Given the description of an element on the screen output the (x, y) to click on. 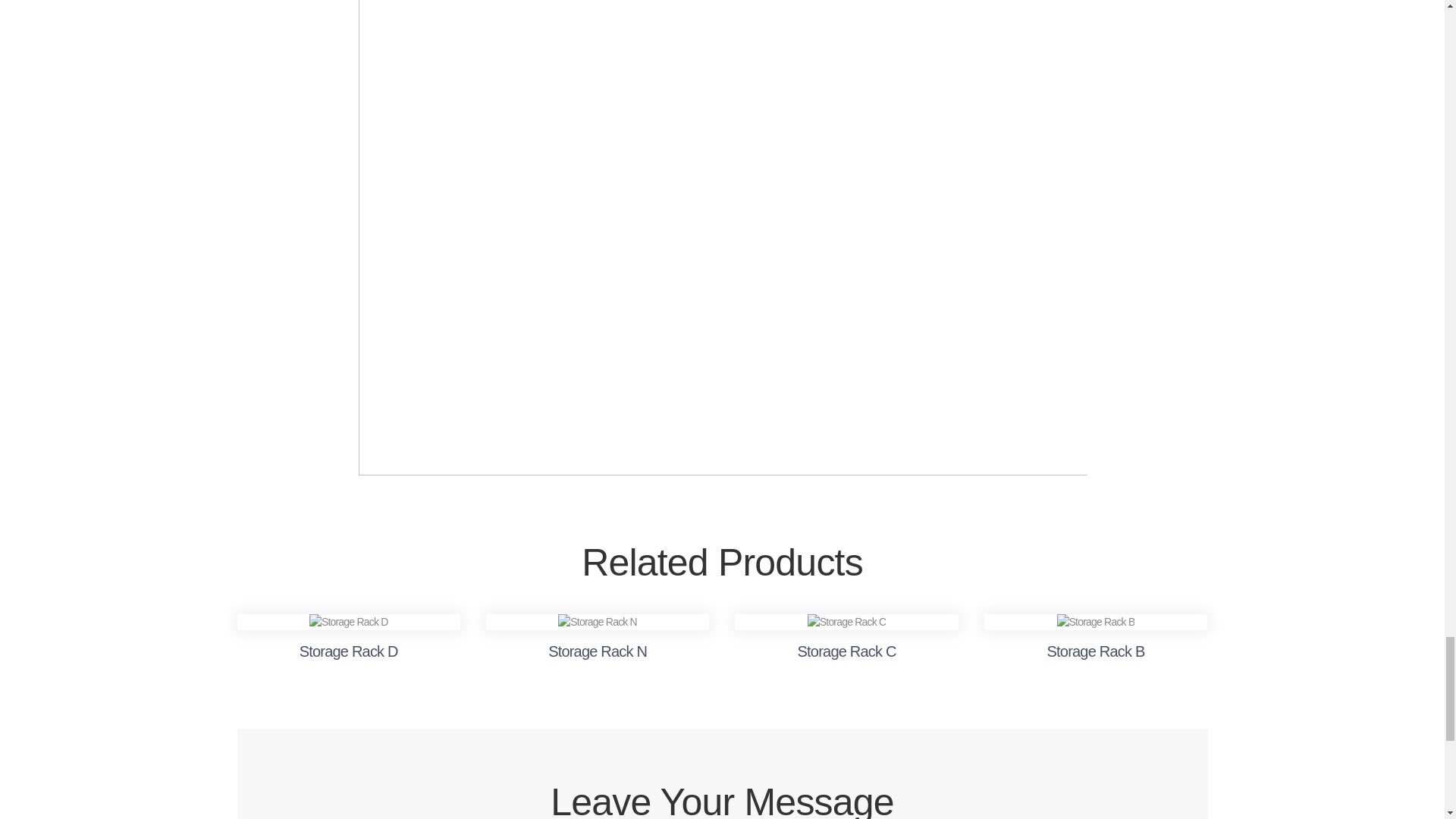
Storage Rack D (348, 621)
Storage Rack C (847, 621)
Storage Rack B (1096, 621)
Storage Rack N (597, 621)
